Given the description of an element on the screen output the (x, y) to click on. 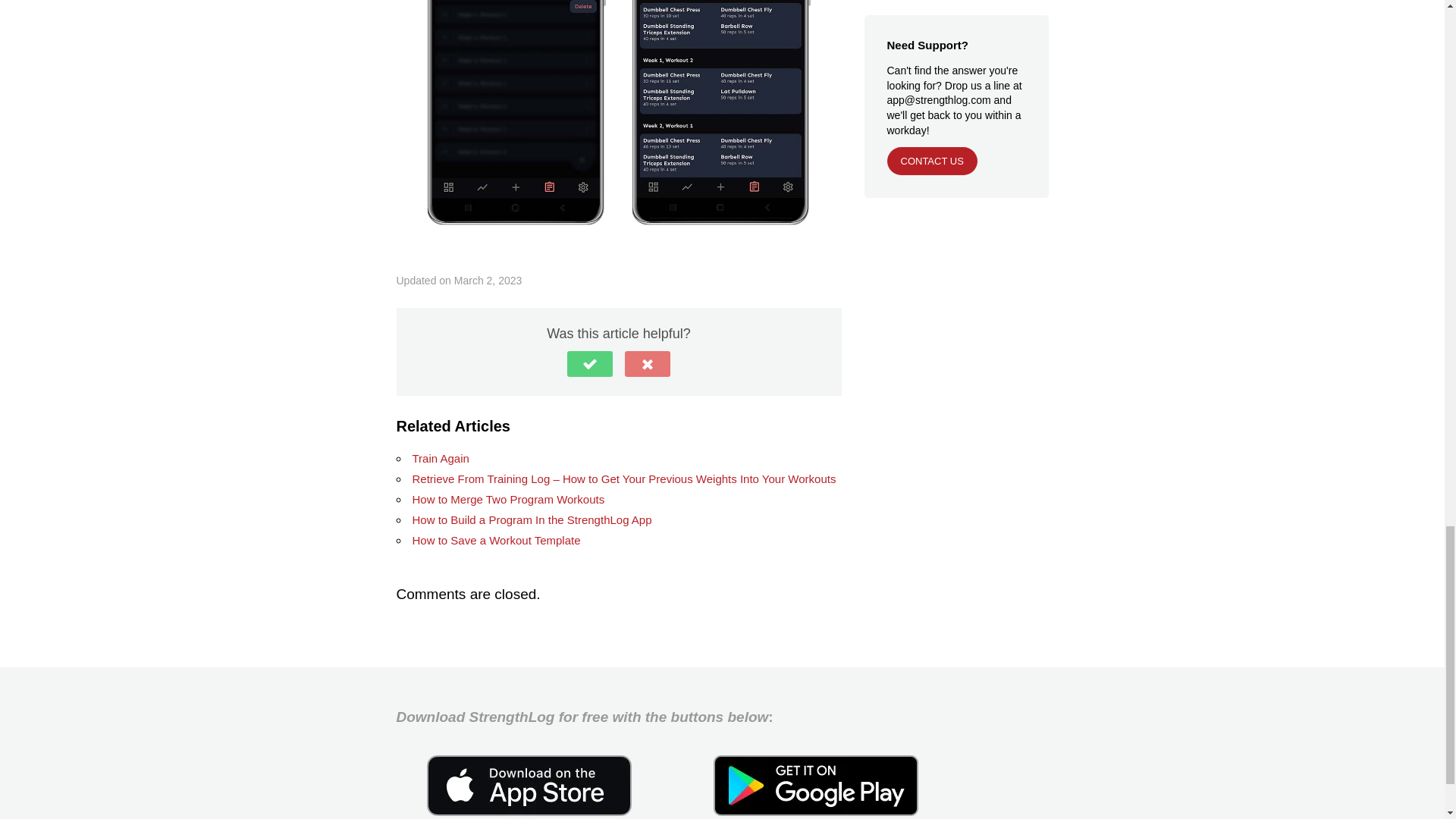
Train Again (440, 458)
How to Save a Workout Template (496, 540)
How to Merge Two Program Workouts (508, 499)
How to Build a Program In the StrengthLog App (532, 519)
